Given the description of an element on the screen output the (x, y) to click on. 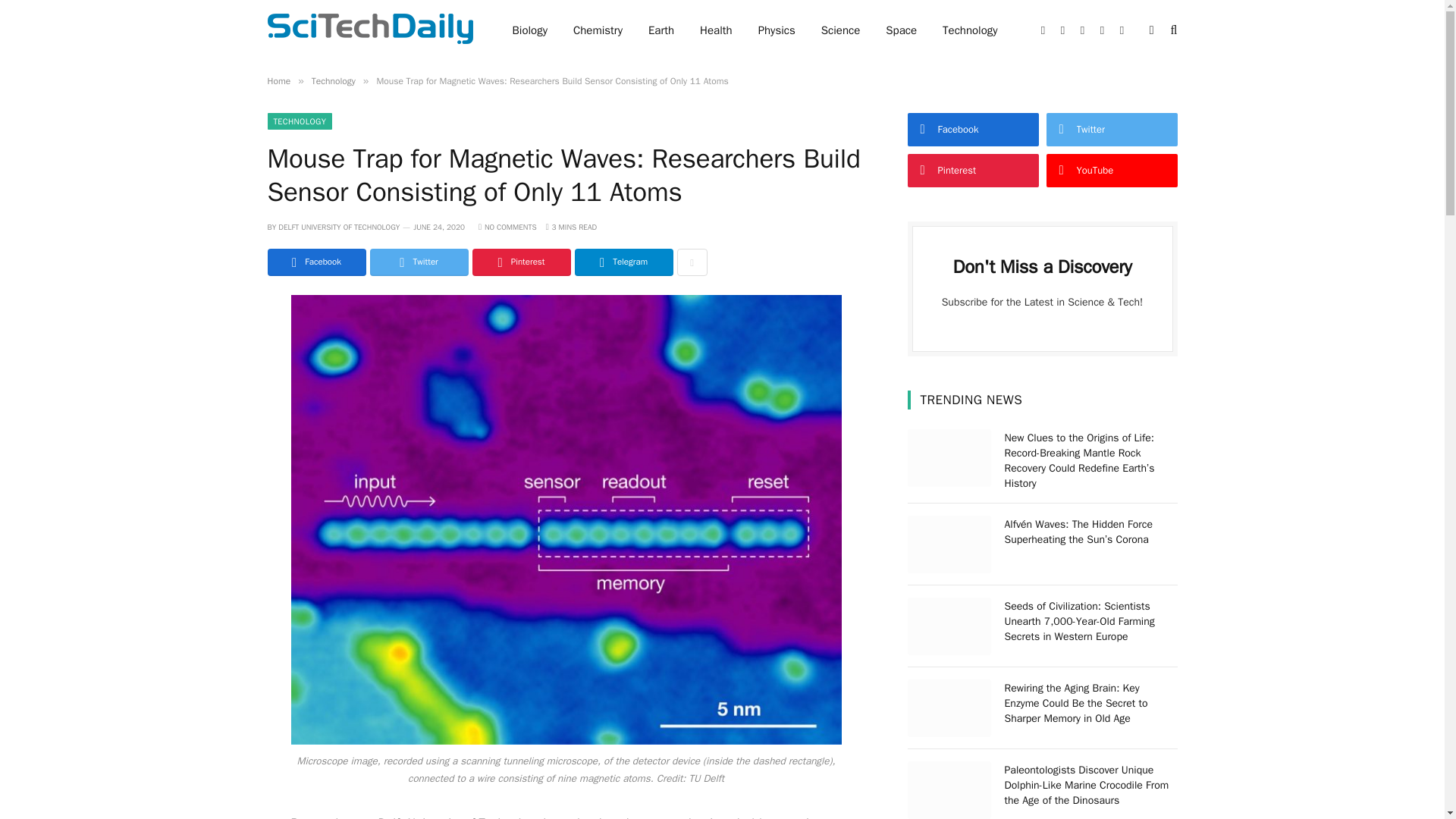
Chemistry (597, 30)
Technology (333, 80)
Share on Telegram (623, 262)
Technology (970, 30)
Biology (529, 30)
Switch to Dark Design - easier on eyes. (1151, 30)
TECHNOLOGY (298, 121)
Share on Pinterest (520, 262)
Physics (776, 30)
Health (716, 30)
